Given the description of an element on the screen output the (x, y) to click on. 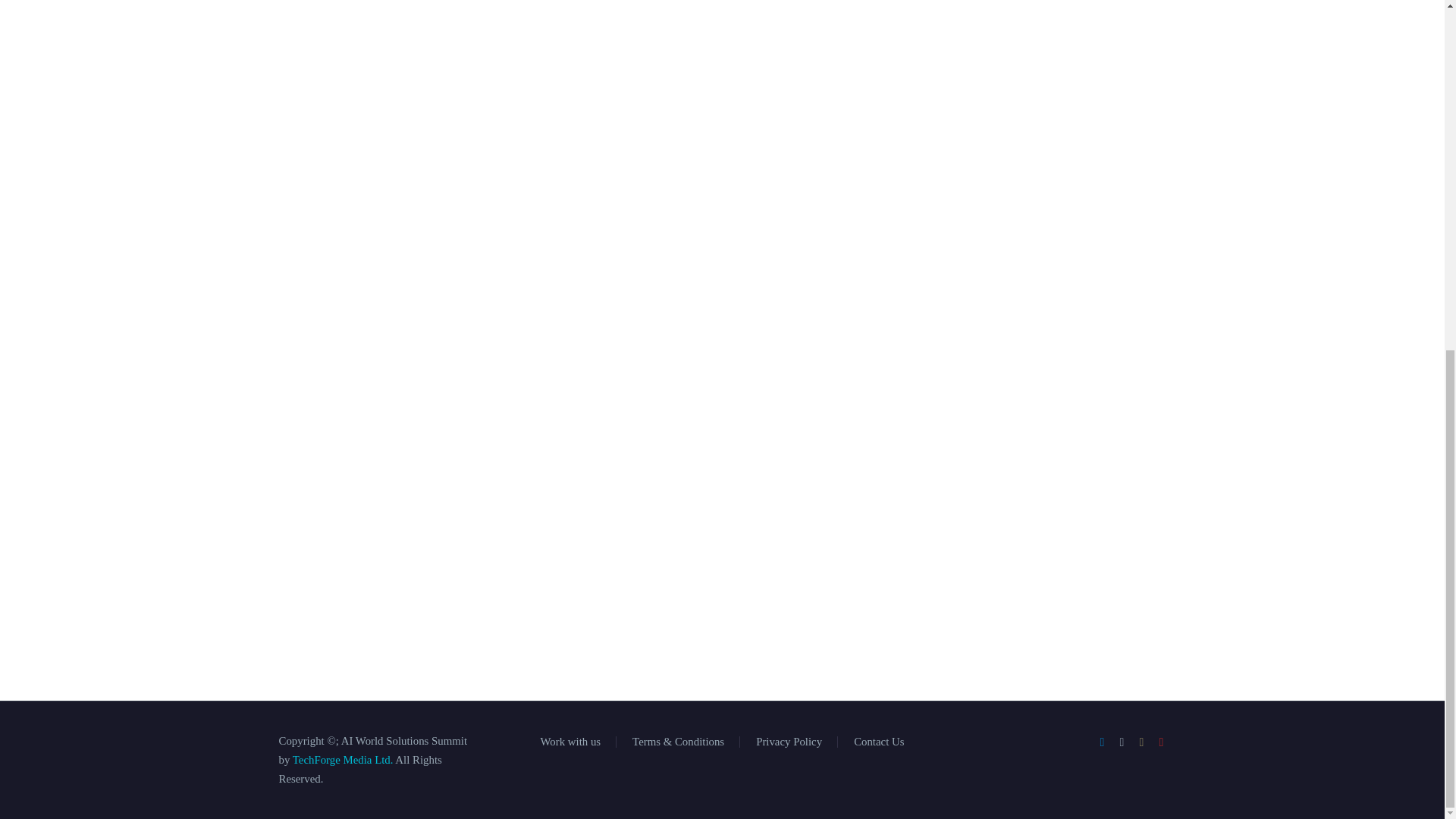
Work with us (569, 741)
YouTube (1161, 742)
Instagram (1141, 742)
TechForge Media Ltd. (342, 759)
Twitter (1122, 742)
LinkedIn (1102, 742)
Privacy Policy (788, 741)
Contact Us (878, 741)
